Given the description of an element on the screen output the (x, y) to click on. 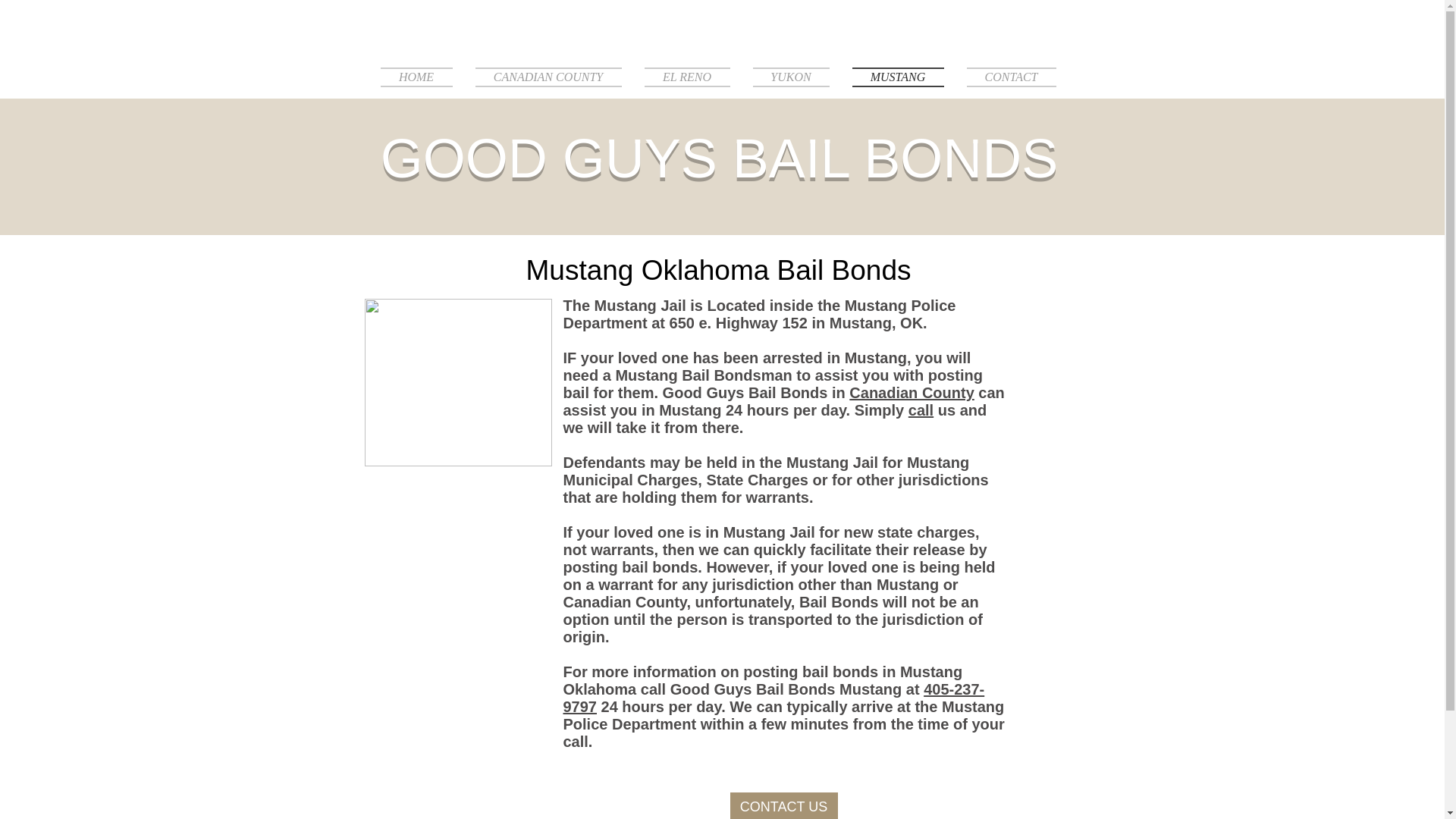
call (920, 410)
HOME (422, 76)
CONTACT (1006, 76)
CANADIAN COUNTY (548, 76)
Canadian County (911, 392)
405-237-9797 (773, 697)
YUKON (791, 76)
EL RENO (686, 76)
MUSTANG (897, 76)
